Given the description of an element on the screen output the (x, y) to click on. 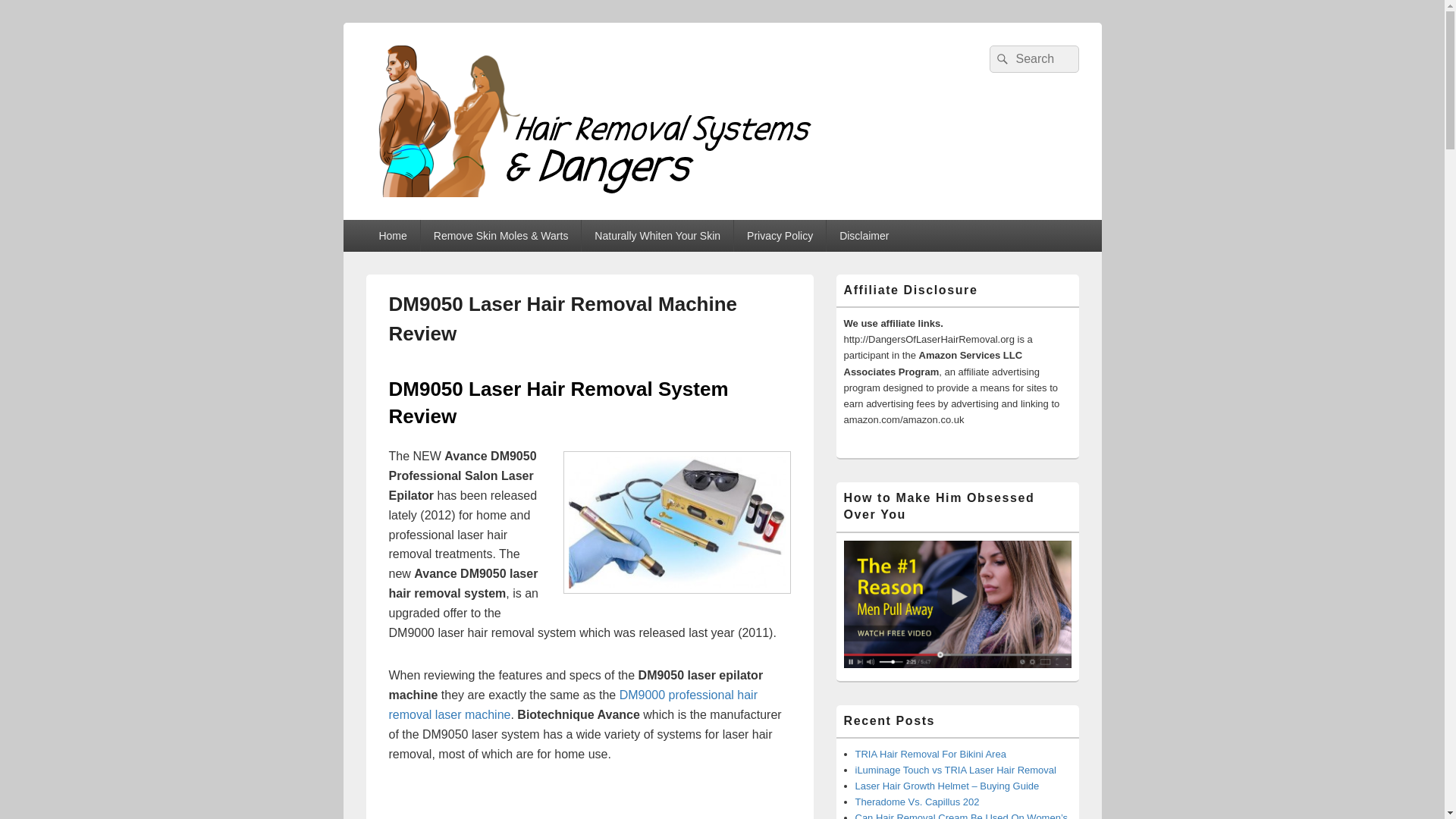
Disclaimer (864, 235)
Home (392, 235)
DM9000 Hair Removal Laser Review (572, 704)
Search for: (1033, 58)
DM9050 Laser Hair Removal Machine (676, 522)
DM9000 professional hair removal laser machine (572, 704)
Naturally Whiten Your Skin (656, 235)
Privacy Policy (779, 235)
